Given the description of an element on the screen output the (x, y) to click on. 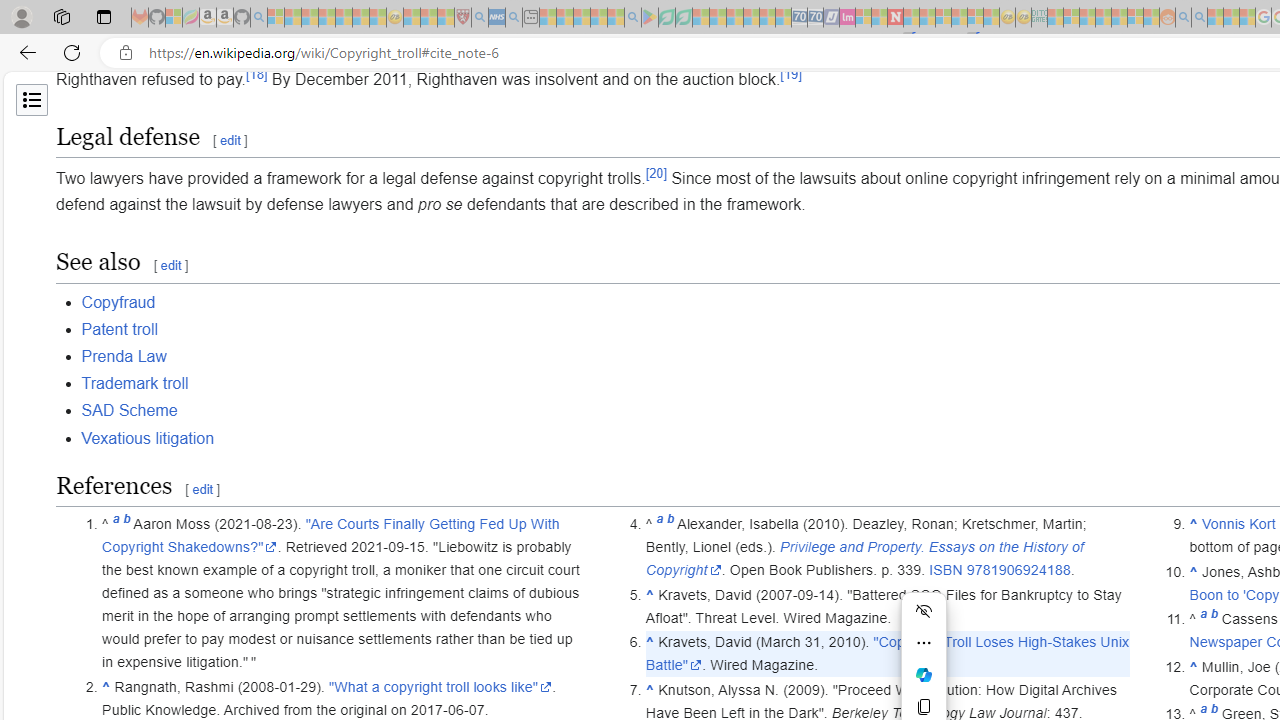
utah sues federal government - Search - Sleeping (513, 17)
b (1213, 619)
Hide menu (923, 610)
[19] (790, 74)
Latest Politics News & Archive | Newsweek.com - Sleeping (895, 17)
